Given the description of an element on the screen output the (x, y) to click on. 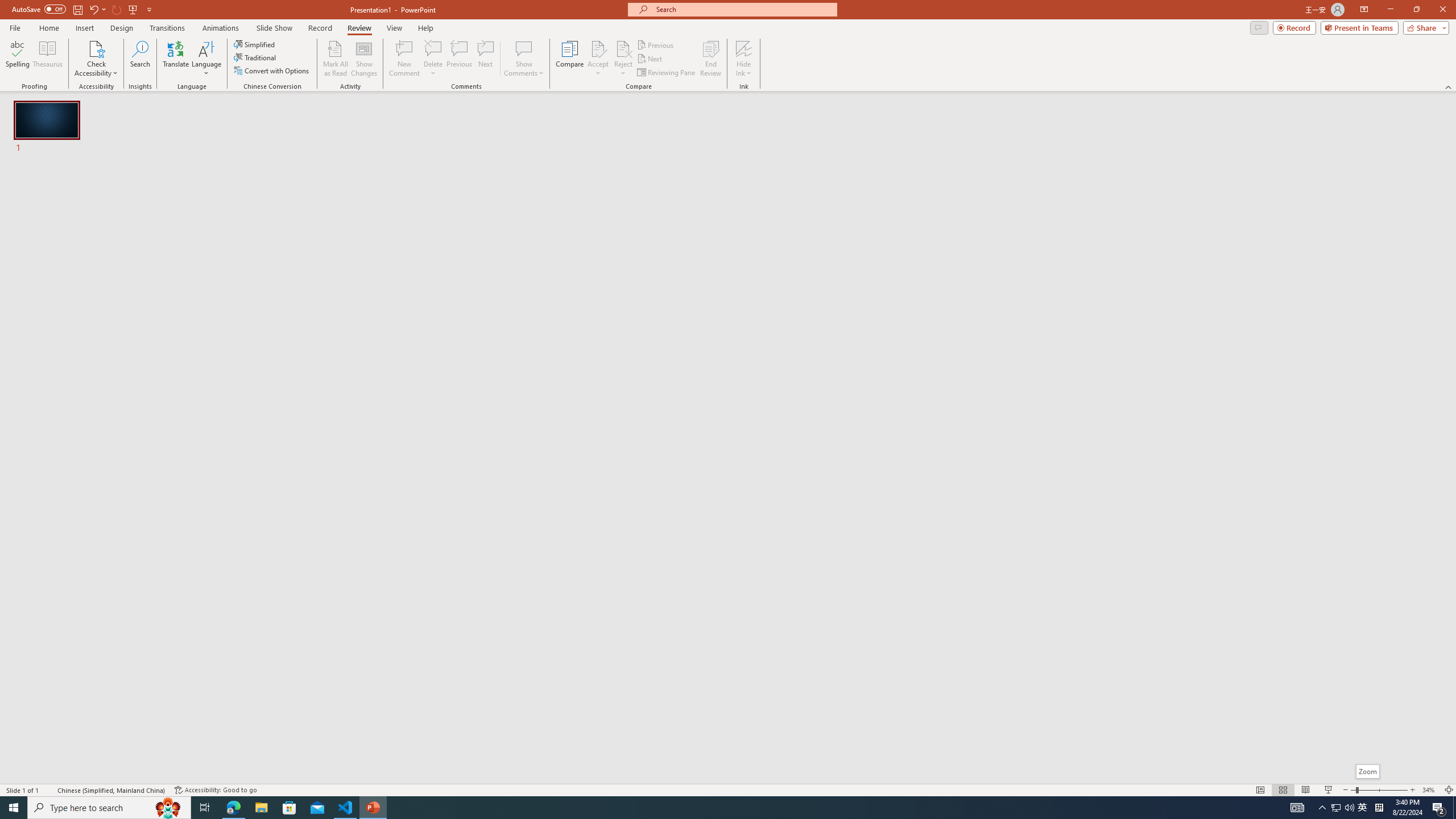
Show Changes (363, 58)
Simplified (254, 44)
